Given the description of an element on the screen output the (x, y) to click on. 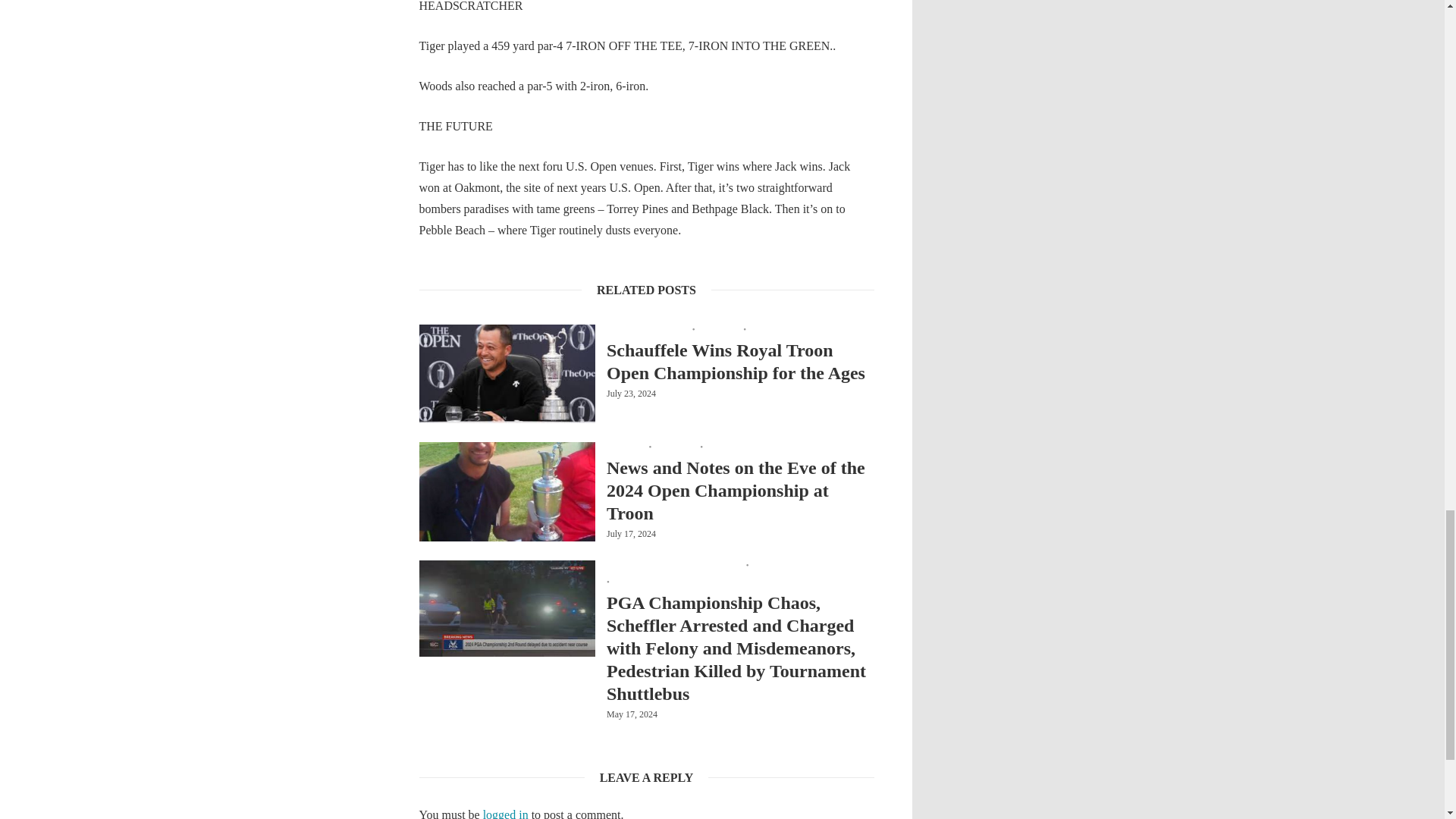
PGA CHAMPIONSHIP (647, 329)
logged in (505, 813)
PGA TOUR (673, 446)
THE OPEN CHAMPIONSHIP (798, 329)
LIV GOLF (626, 446)
PGA CHAMPIONSHIP (789, 564)
Schauffele Wins Royal Troon Open Championship for the Ages (740, 361)
CHUMPS, LUNKHEADS, DINGBATS (674, 564)
